Given the description of an element on the screen output the (x, y) to click on. 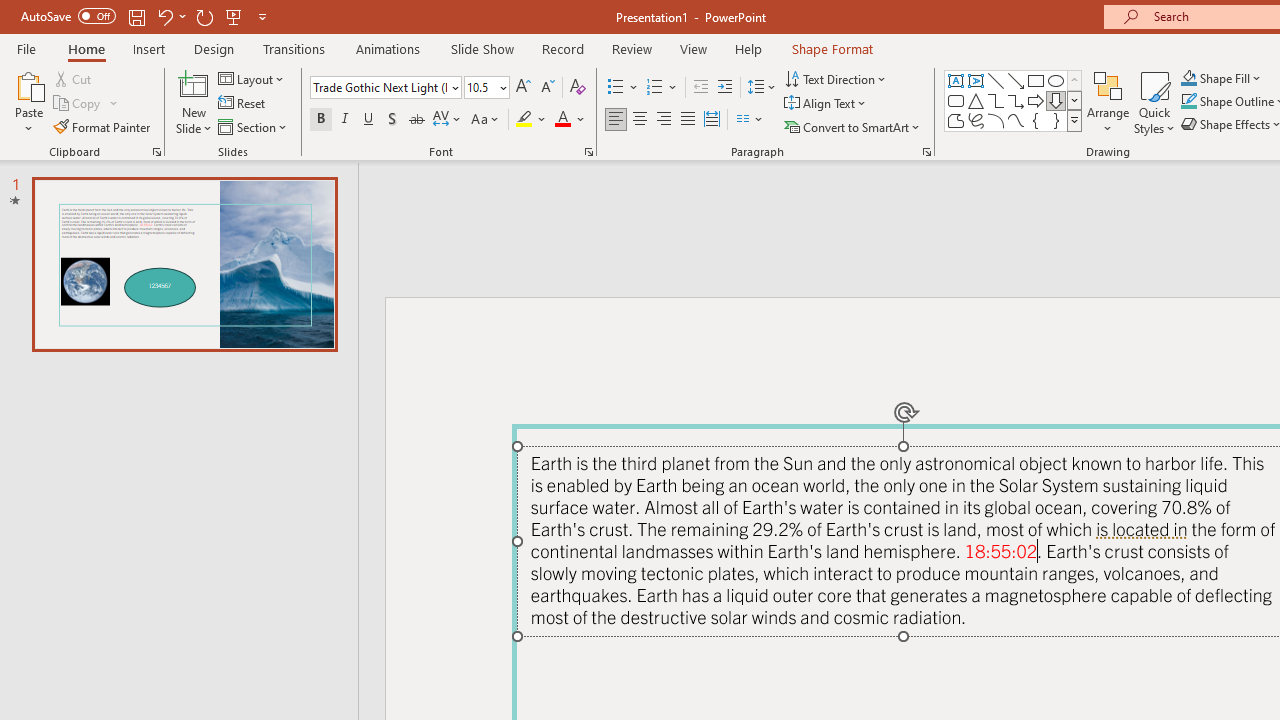
Increase Font Size (522, 87)
Text Highlight Color Yellow (524, 119)
Font (385, 87)
Office Clipboard... (156, 151)
Font Size (486, 87)
Shape Format (832, 48)
Copy (78, 103)
Rectangle (1035, 80)
Clear Formatting (577, 87)
Strikethrough (416, 119)
Left Brace (1035, 120)
